Given the description of an element on the screen output the (x, y) to click on. 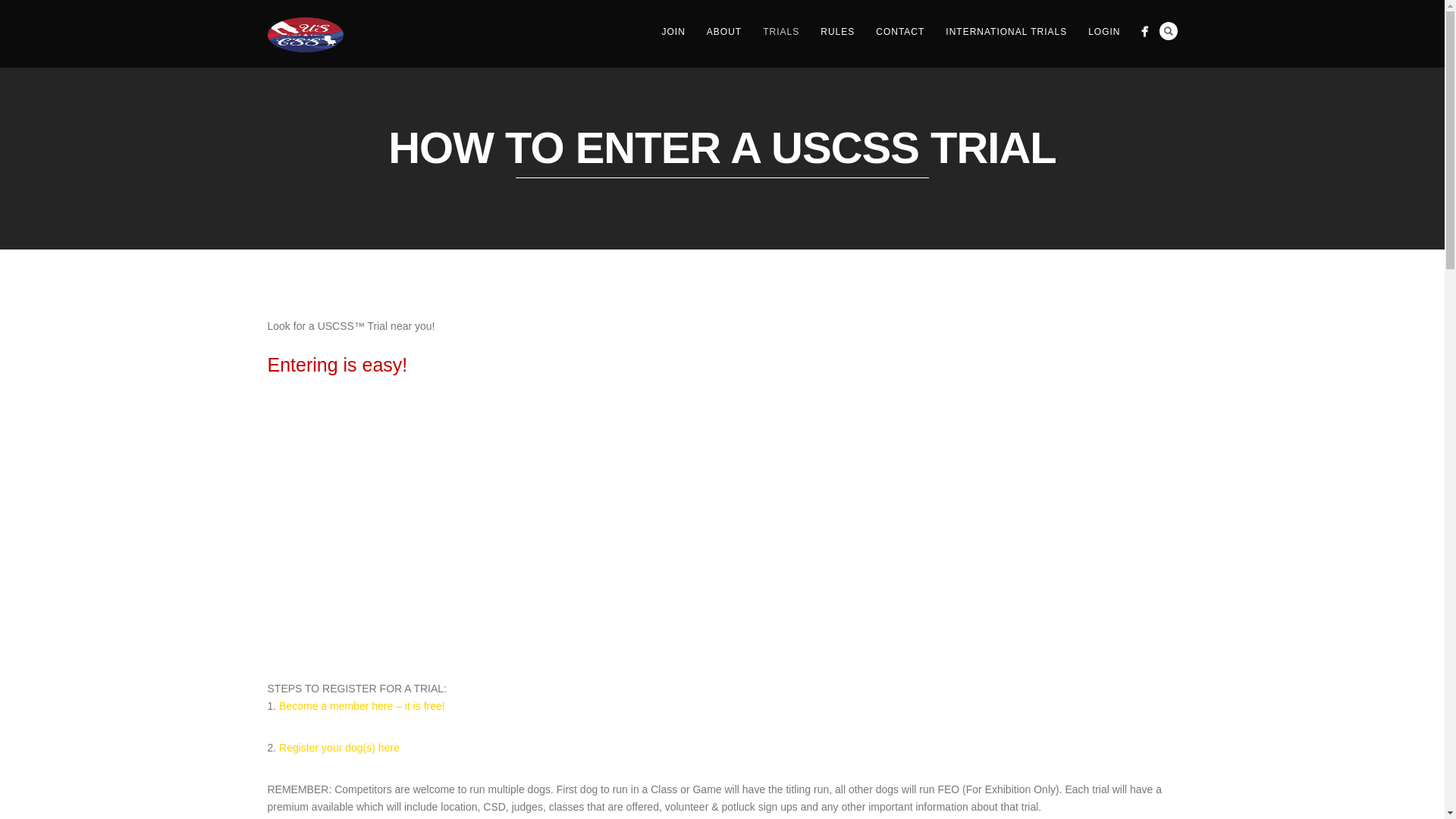
LOGIN (1104, 31)
RULES (836, 31)
CONTACT (899, 31)
TRIALS (780, 31)
INTERNATIONAL TRIALS (1005, 31)
Search (1167, 31)
ABOUT (723, 31)
JOIN (672, 31)
